Given the description of an element on the screen output the (x, y) to click on. 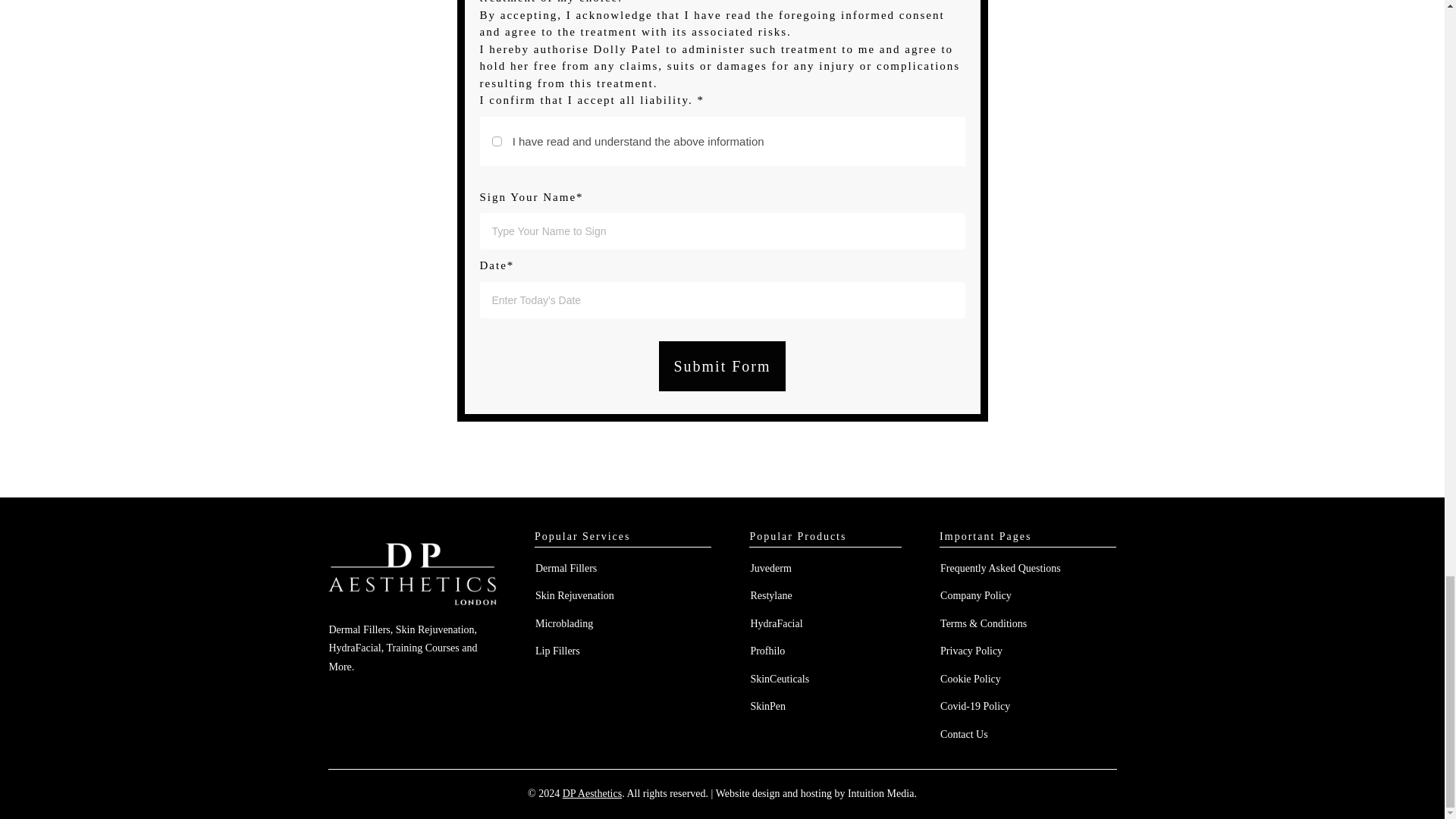
SkinPen (767, 706)
Juvederm (769, 568)
Company Policy (975, 595)
Cookie Policy (970, 678)
HydraFacial (775, 623)
Privacy Policy (971, 650)
Profhilo (766, 650)
Covid-19 Policy (975, 706)
DP Aesthetics (591, 793)
Website design and hosting by Intuition Media (815, 793)
Microblading (563, 623)
Skin Rejuvenation (574, 595)
Contact Us (964, 734)
Lip Fillers (557, 650)
SkinCeuticals (779, 678)
